Given the description of an element on the screen output the (x, y) to click on. 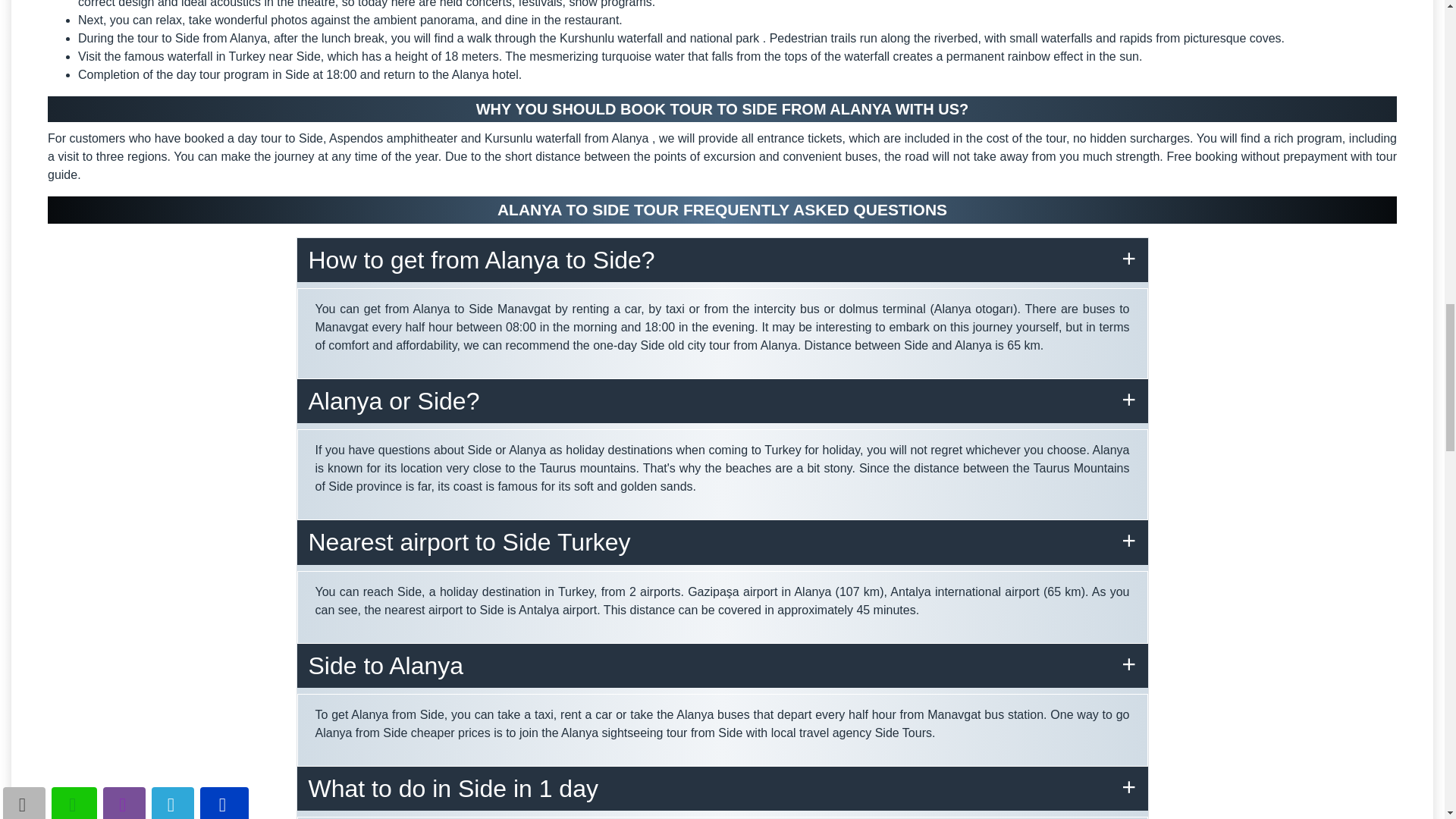
What to do in Side in 1 day (722, 788)
Side to Alanya (722, 665)
Nearest airport to Side Turkey (722, 542)
Alanya or Side? (722, 401)
How to get from Alanya to Side? (722, 259)
